Given the description of an element on the screen output the (x, y) to click on. 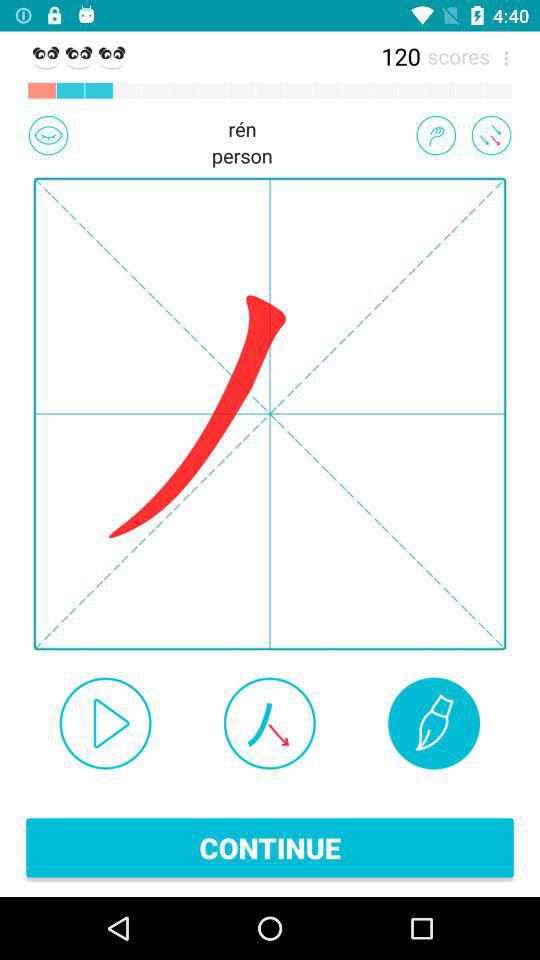
play button (105, 723)
